Given the description of an element on the screen output the (x, y) to click on. 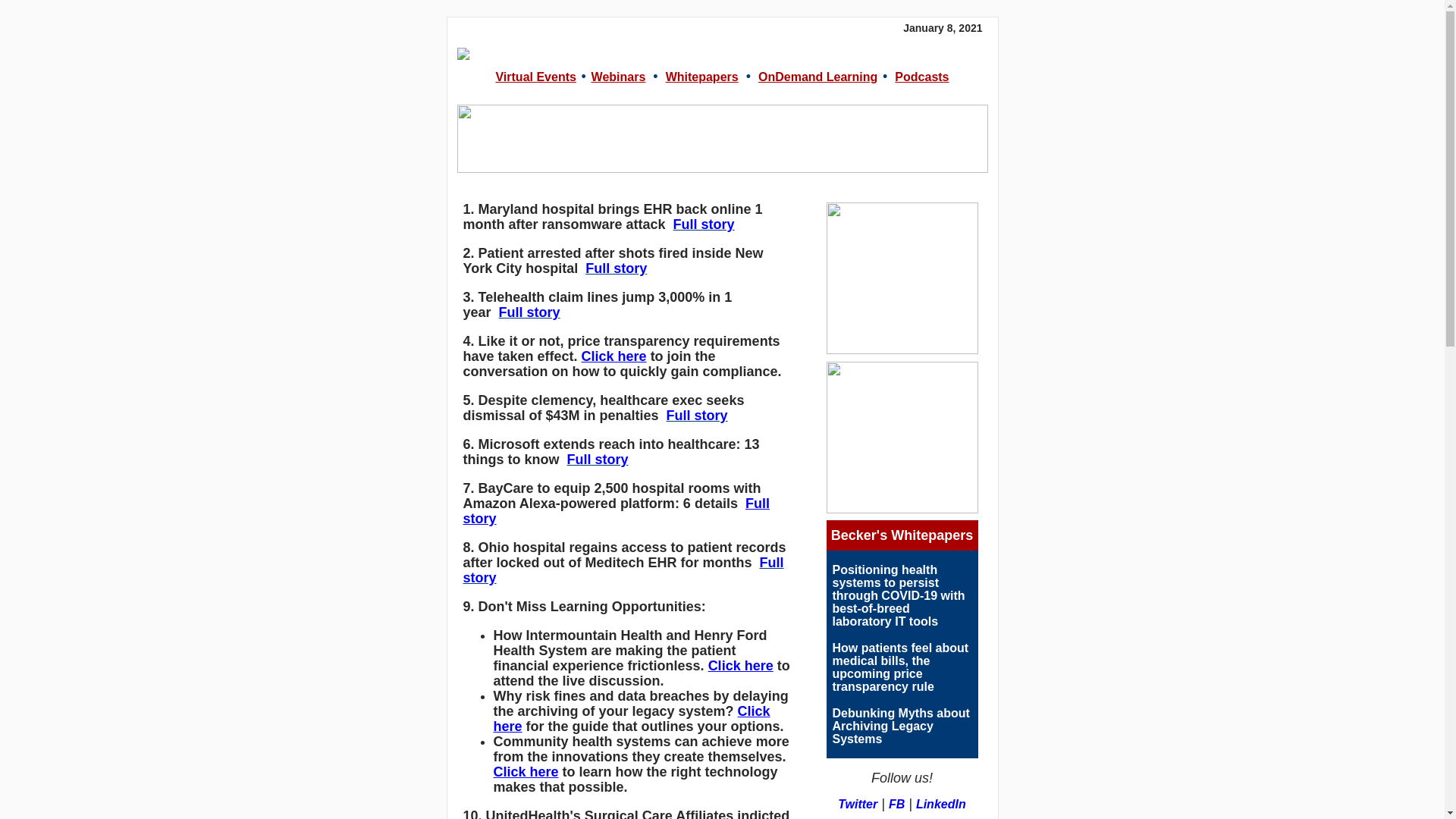
Full story (615, 268)
Full story (529, 312)
OnDemand Learning (817, 76)
Full story (623, 570)
Full story (597, 459)
Debunking Myths about Archiving Legacy Systems (900, 725)
Click here (740, 665)
Click here (525, 771)
Full story (703, 224)
